Given the description of an element on the screen output the (x, y) to click on. 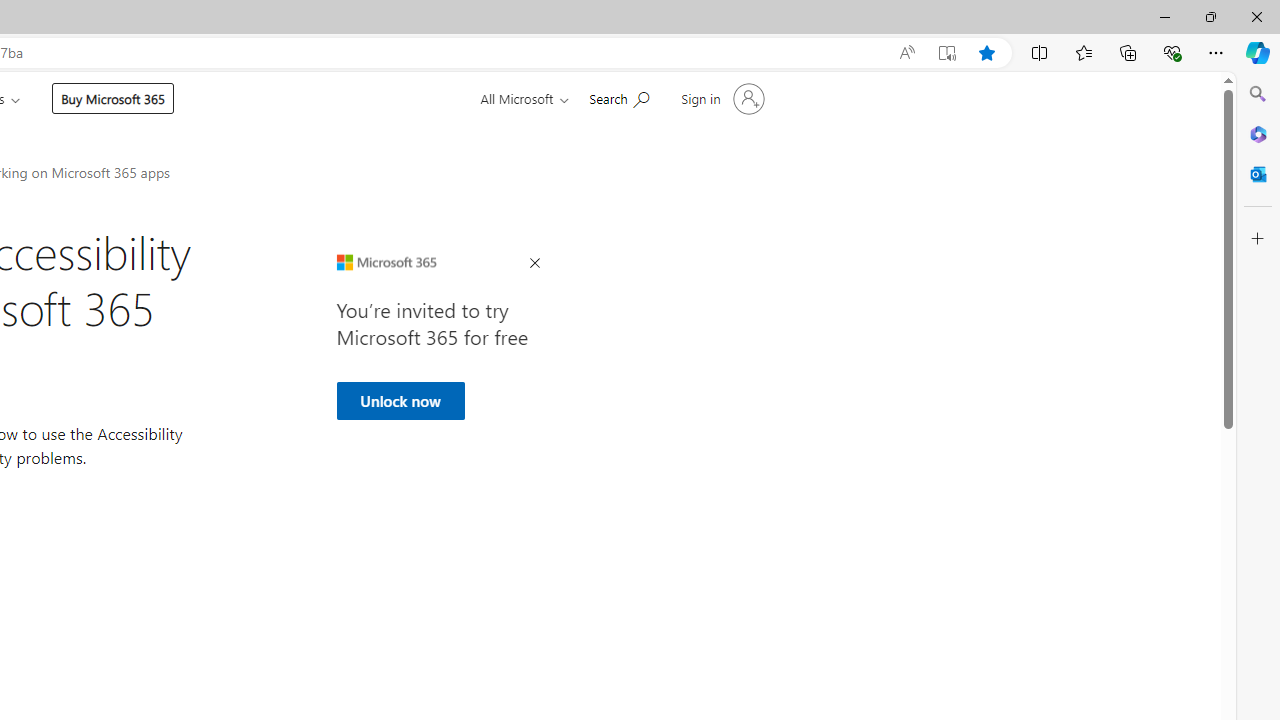
Split screen (1039, 52)
Add this page to favorites (Ctrl+D) (986, 53)
Favorites (1083, 52)
Buy Microsoft 365 (113, 97)
Buy Microsoft 365 (112, 98)
Unlock now (399, 399)
Read aloud this page (Ctrl+Shift+U) (906, 53)
